Given the description of an element on the screen output the (x, y) to click on. 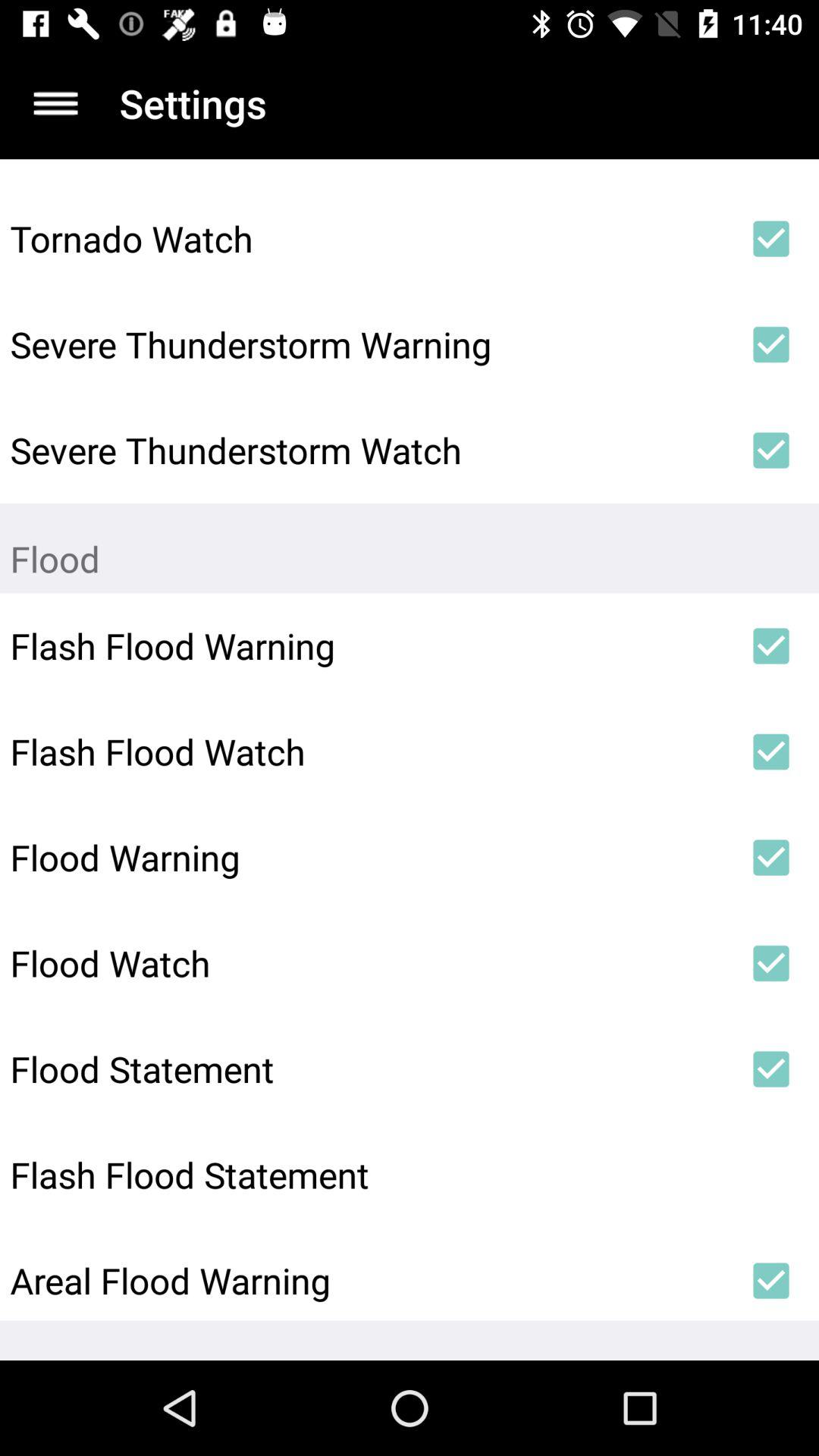
choose the icon to the right of tornado watch (771, 238)
